Given the description of an element on the screen output the (x, y) to click on. 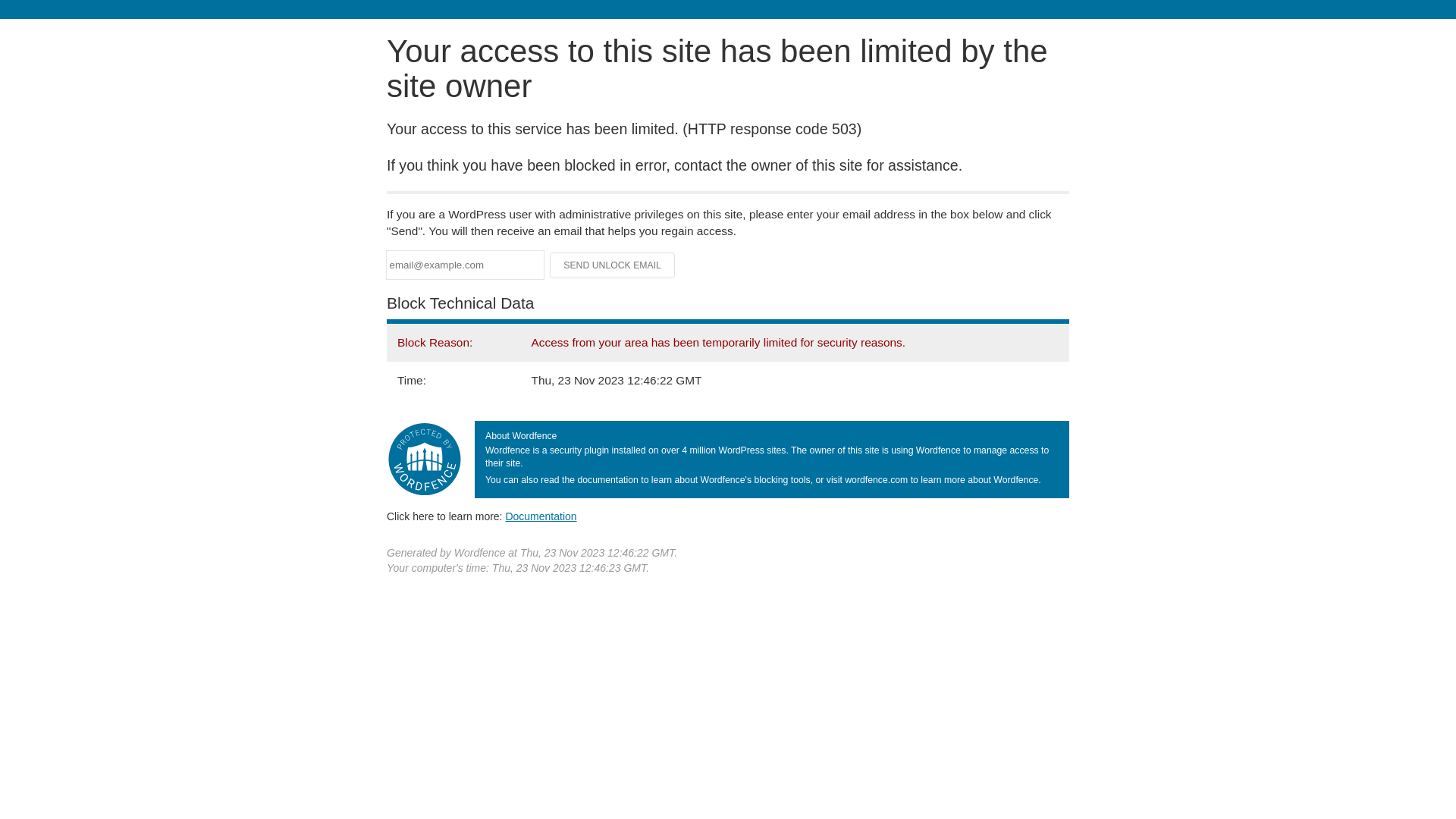
Documentation Element type: text (540, 516)
Send Unlock Email Element type: text (612, 265)
